Given the description of an element on the screen output the (x, y) to click on. 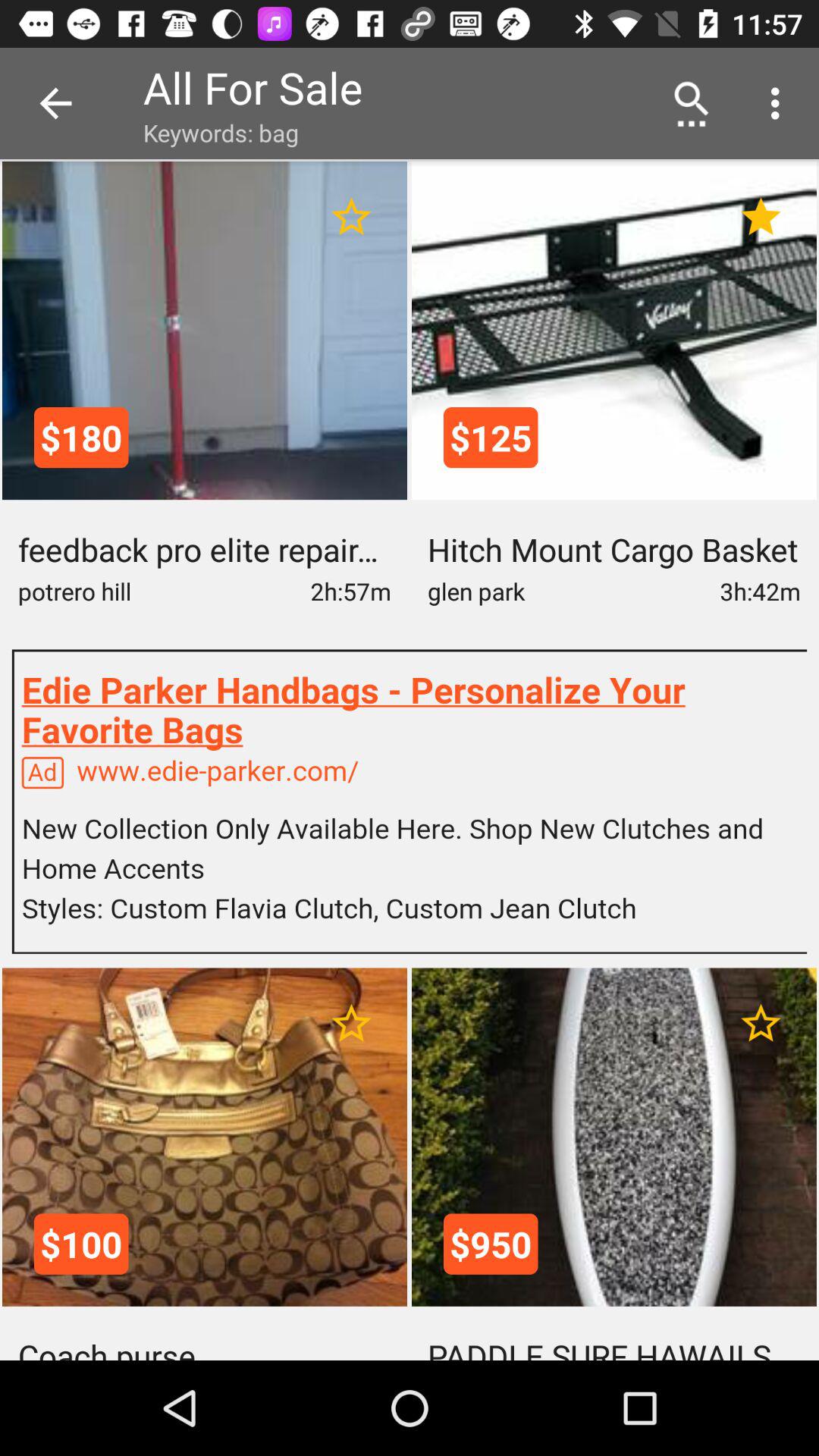
add to favorites (351, 1023)
